Given the description of an element on the screen output the (x, y) to click on. 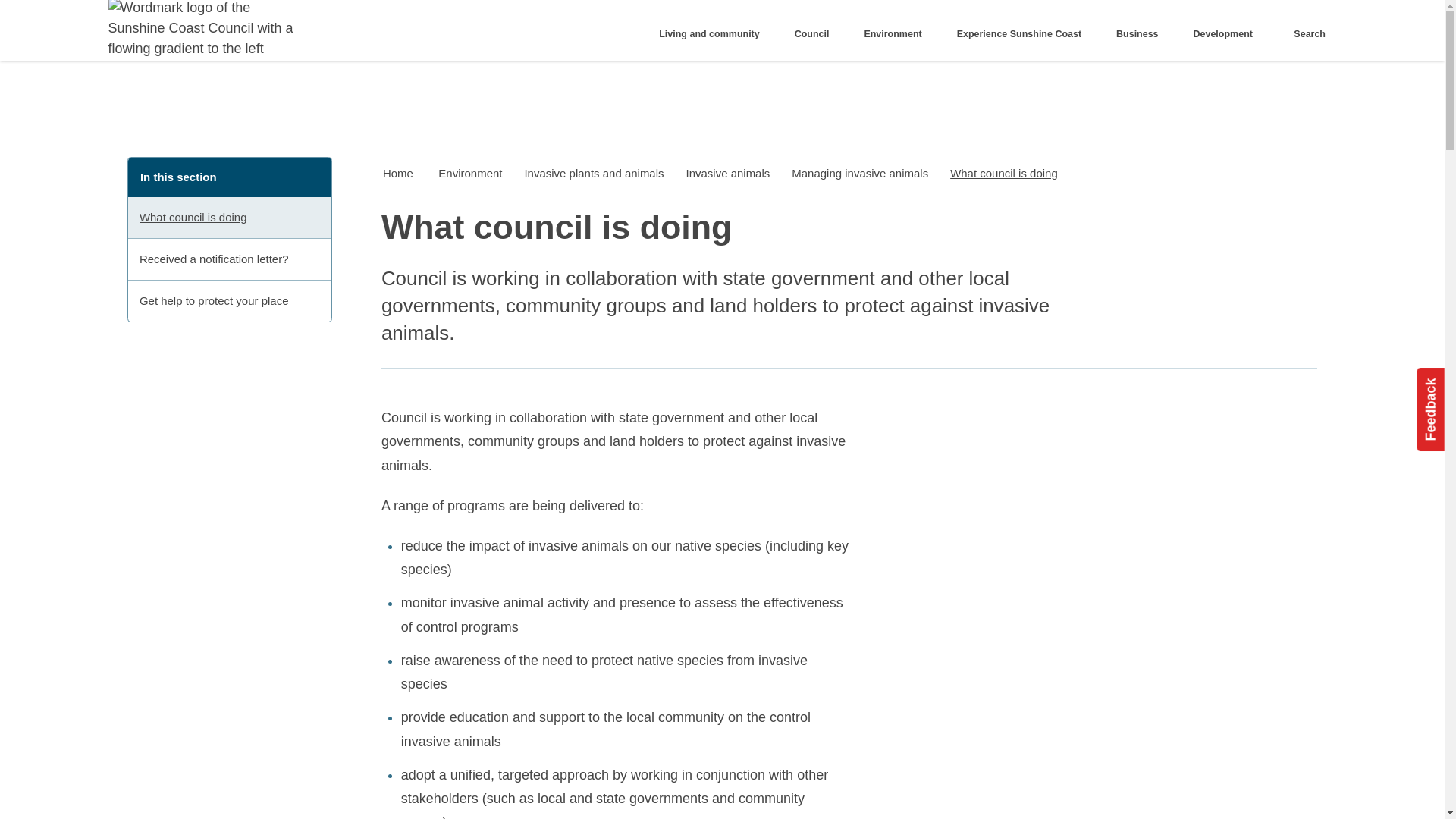
Managing invasive animals (859, 173)
What council is doing (1003, 173)
What council is doing (229, 217)
What council is doing (229, 217)
Experience Sunshine Coast (1023, 34)
Search (1306, 34)
Living and community (713, 34)
Development (1227, 34)
Invasive plants and animals (594, 173)
Search Sunshine Coast Council website (1306, 34)
Development (1227, 34)
Environment (470, 173)
Council (815, 34)
Living and community (713, 34)
Environment (897, 34)
